Given the description of an element on the screen output the (x, y) to click on. 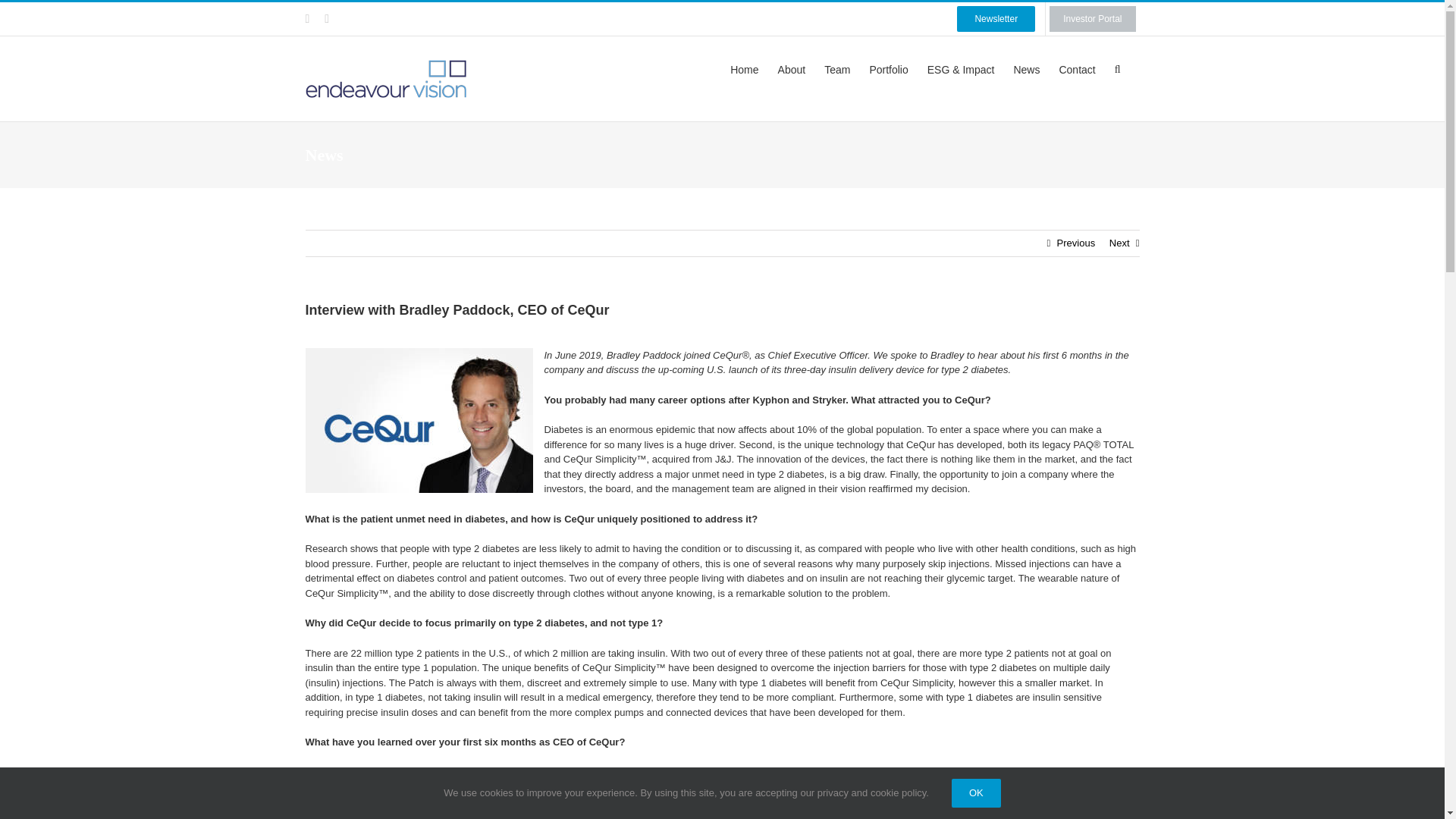
Investor Portal (1091, 19)
Newsletter Sign Up (996, 19)
Newsletter (996, 19)
Previous (1076, 243)
